Given the description of an element on the screen output the (x, y) to click on. 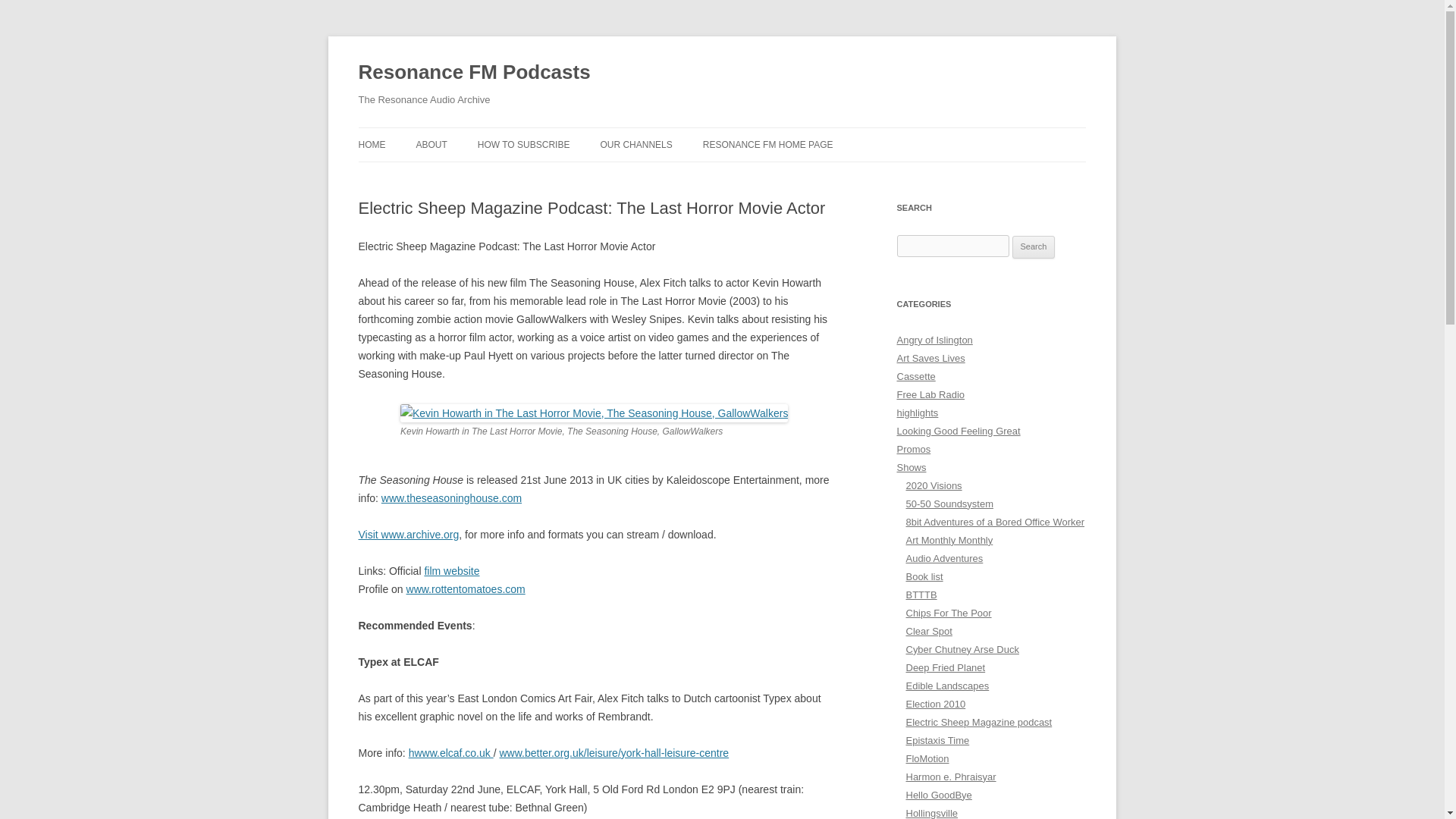
Resonance FM Podcasts (473, 72)
HOW TO SUBSCRIBE (523, 144)
Regular broadcasts on Resonance FM (911, 467)
Free Lab Radio (929, 394)
ABOUT (430, 144)
Category for podcasts on behalf of Electric Sheep Magazine (978, 722)
Promos (913, 449)
highlights (916, 412)
hwww.elcaf.co.uk (451, 752)
Resonance FM Podcasts (473, 72)
Promos for our shows. (913, 449)
film website (451, 571)
